Given the description of an element on the screen output the (x, y) to click on. 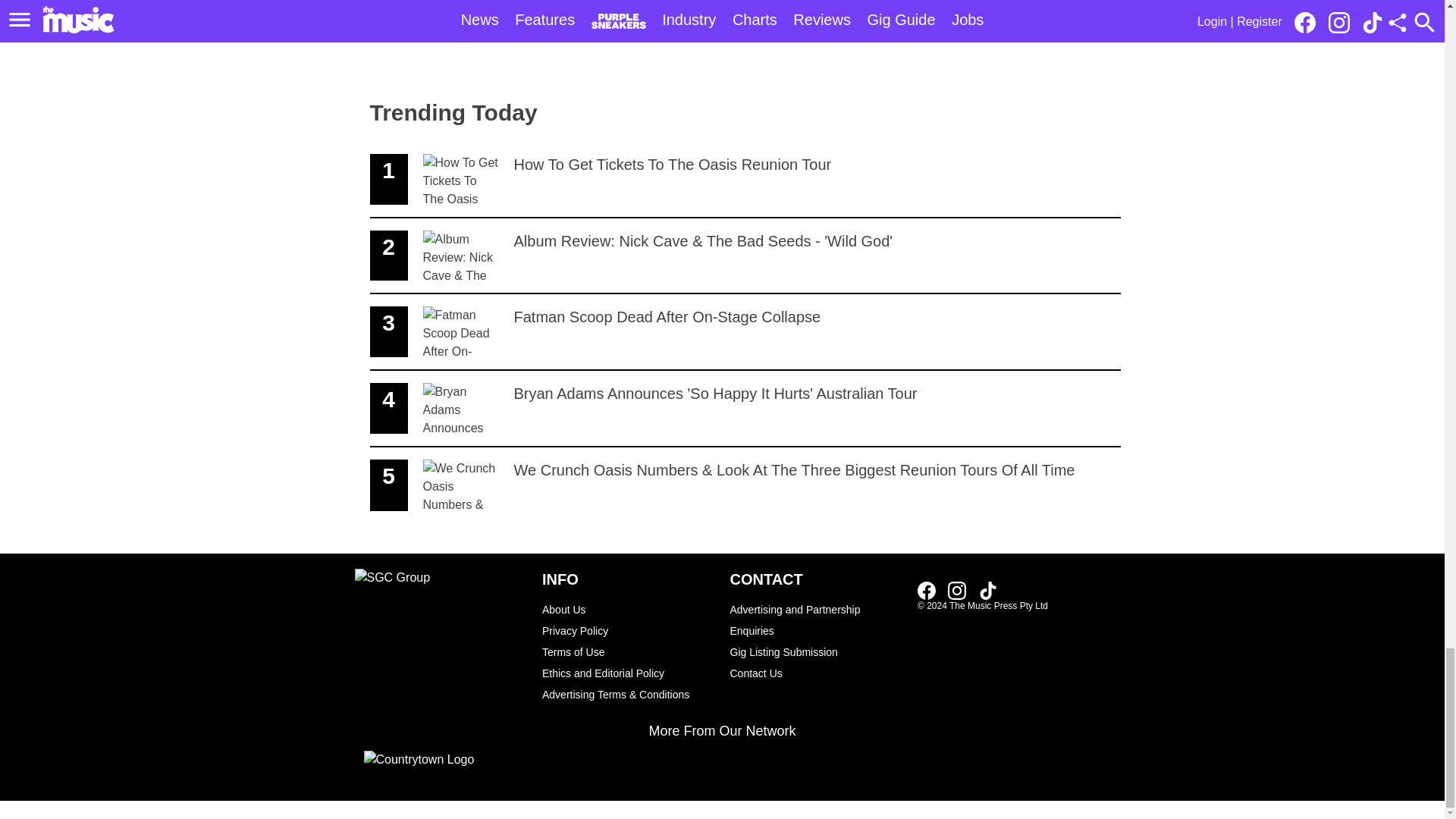
Link to our Instagram (961, 589)
Link to our Facebook (926, 590)
About Us (627, 608)
Contact Us (745, 179)
Link to our TikTok (815, 672)
Advertising and Partnership Enquiries (987, 590)
Privacy Policy (815, 619)
Ethics and Editorial Policy (627, 630)
Link to our Facebook (627, 672)
